Given the description of an element on the screen output the (x, y) to click on. 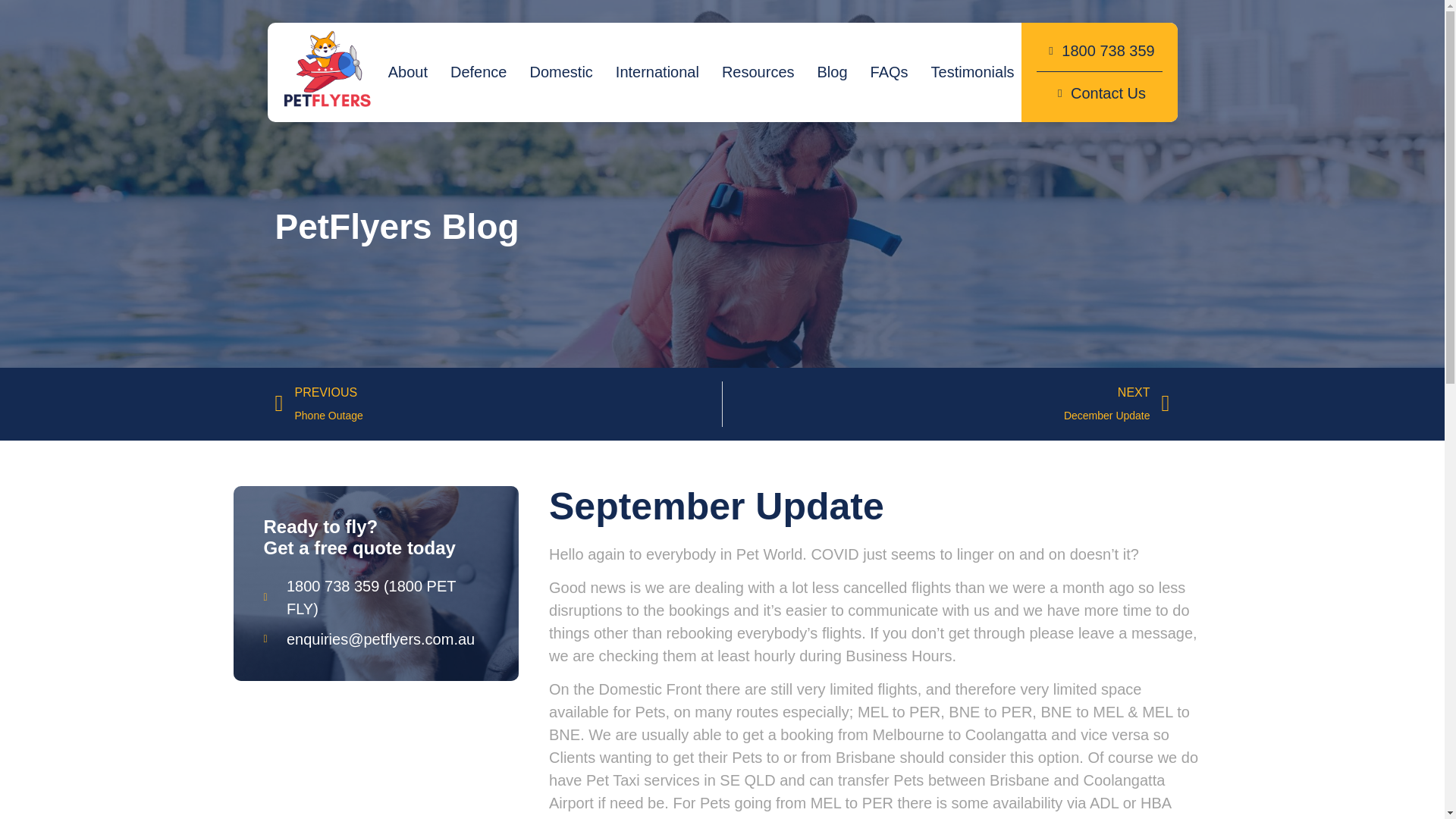
Resources (758, 71)
International (657, 71)
1800 738 359 (1098, 50)
Blog (832, 71)
Defence (478, 71)
Testimonials (973, 71)
About (408, 71)
Contact Us (1098, 92)
Domestic (561, 71)
FAQs (498, 403)
